Given the description of an element on the screen output the (x, y) to click on. 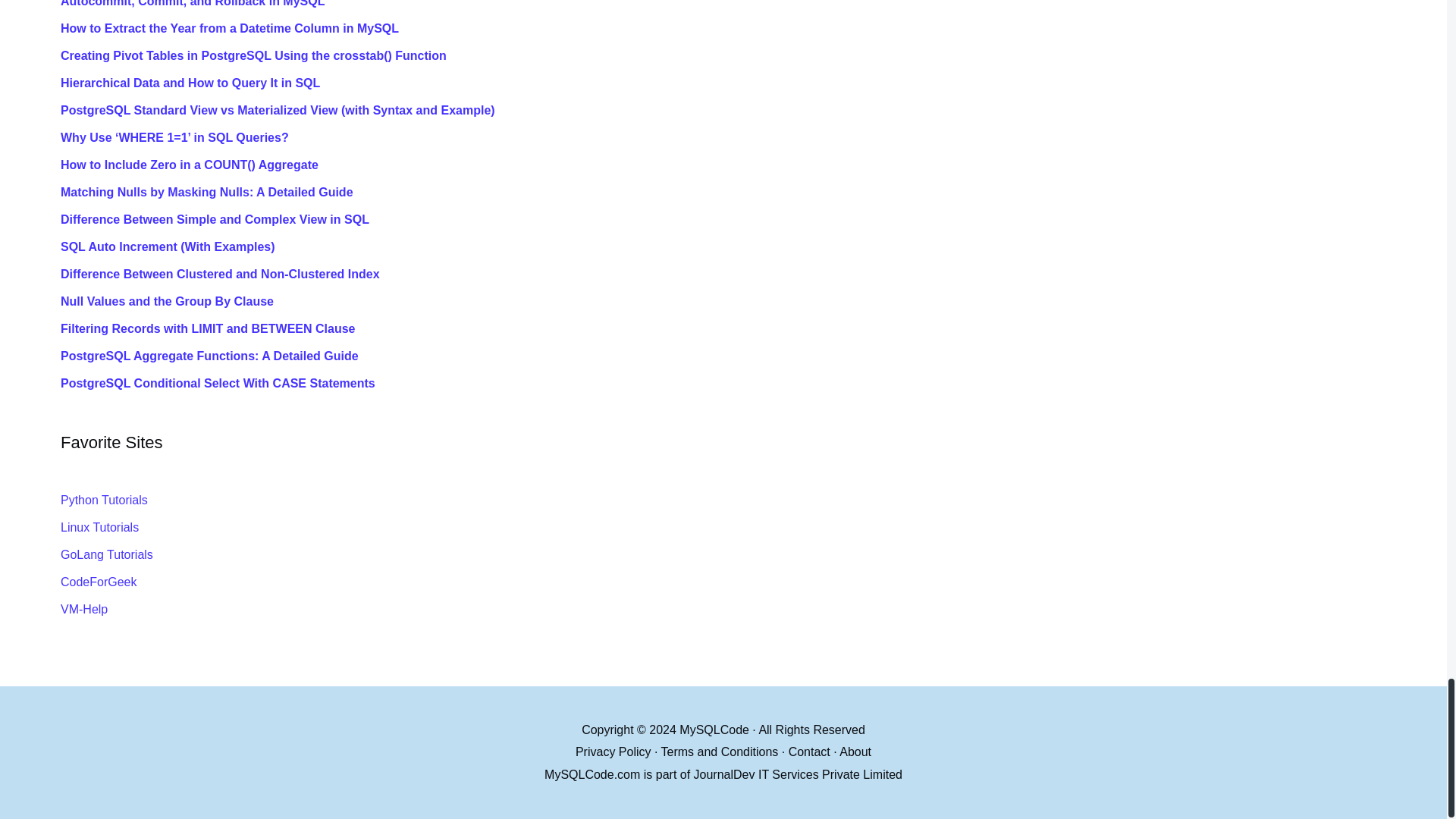
Terms and Conditions (719, 751)
GoLang Tutorials (106, 554)
VM-Help (84, 608)
Difference Between Clustered and Non-Clustered Index (746, 274)
Python Tutorials (104, 499)
Contact (809, 751)
CodeForGeek (98, 581)
Matching Nulls by Masking Nulls: A Detailed Guide (746, 192)
Difference Between Simple and Complex View in SQL (746, 219)
Hierarchical Data and How to Query It in SQL (746, 83)
